Given the description of an element on the screen output the (x, y) to click on. 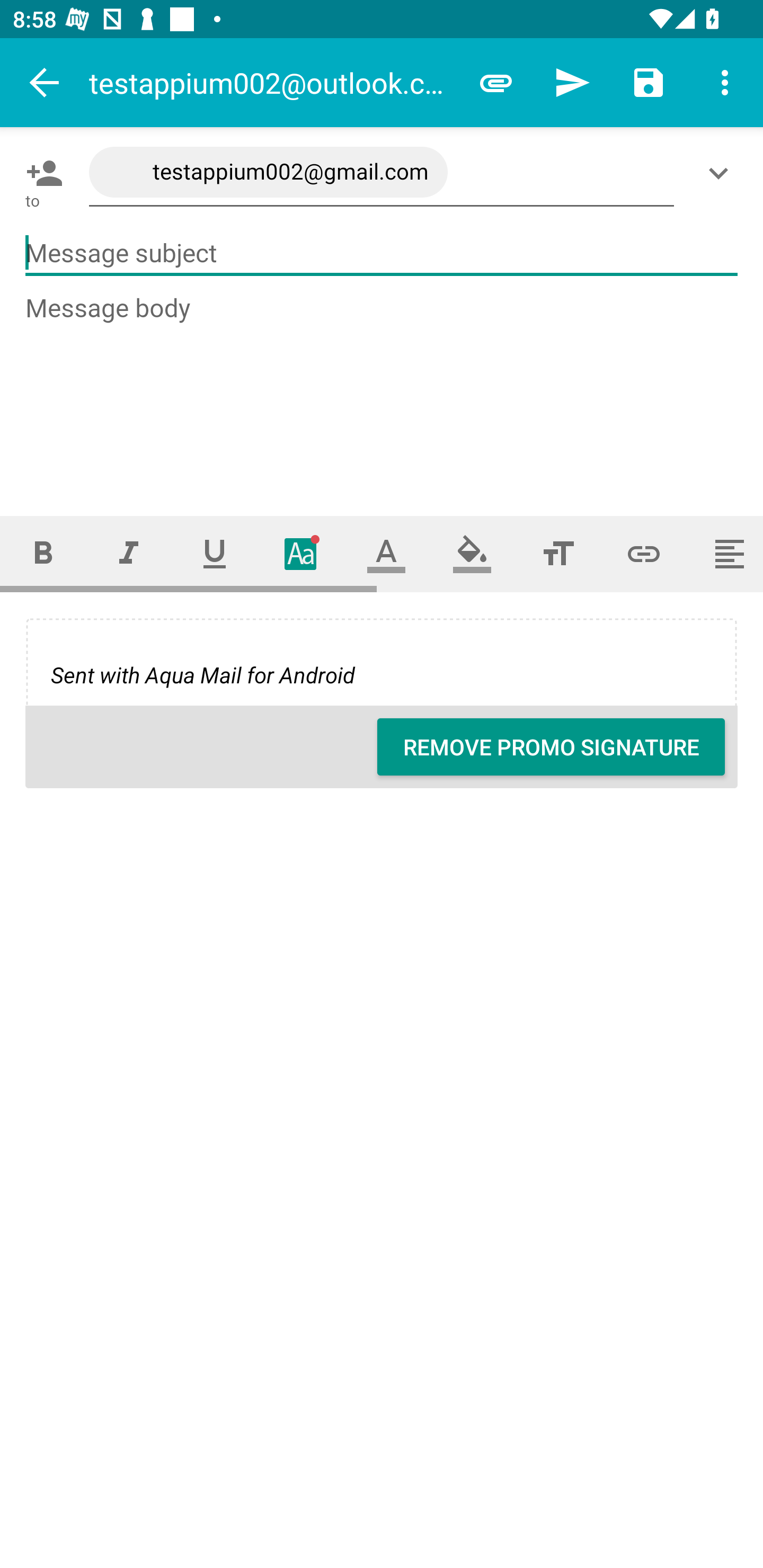
Navigate up (44, 82)
testappium002@outlook.com (273, 82)
Attach (495, 82)
Send (572, 82)
Save (648, 82)
More options (724, 81)
testappium002@gmail.com,  (381, 173)
Pick contact: To (41, 172)
Show/Add CC/BCC (721, 172)
Message subject (381, 252)
Message body (381, 388)
Bold (42, 553)
Italic (128, 553)
Underline (214, 553)
Typeface (font) (300, 553)
Text color (385, 553)
Fill color (471, 553)
Font size (558, 553)
Set link (643, 553)
Align left (724, 553)
REMOVE PROMO SIGNATURE (550, 747)
